Given the description of an element on the screen output the (x, y) to click on. 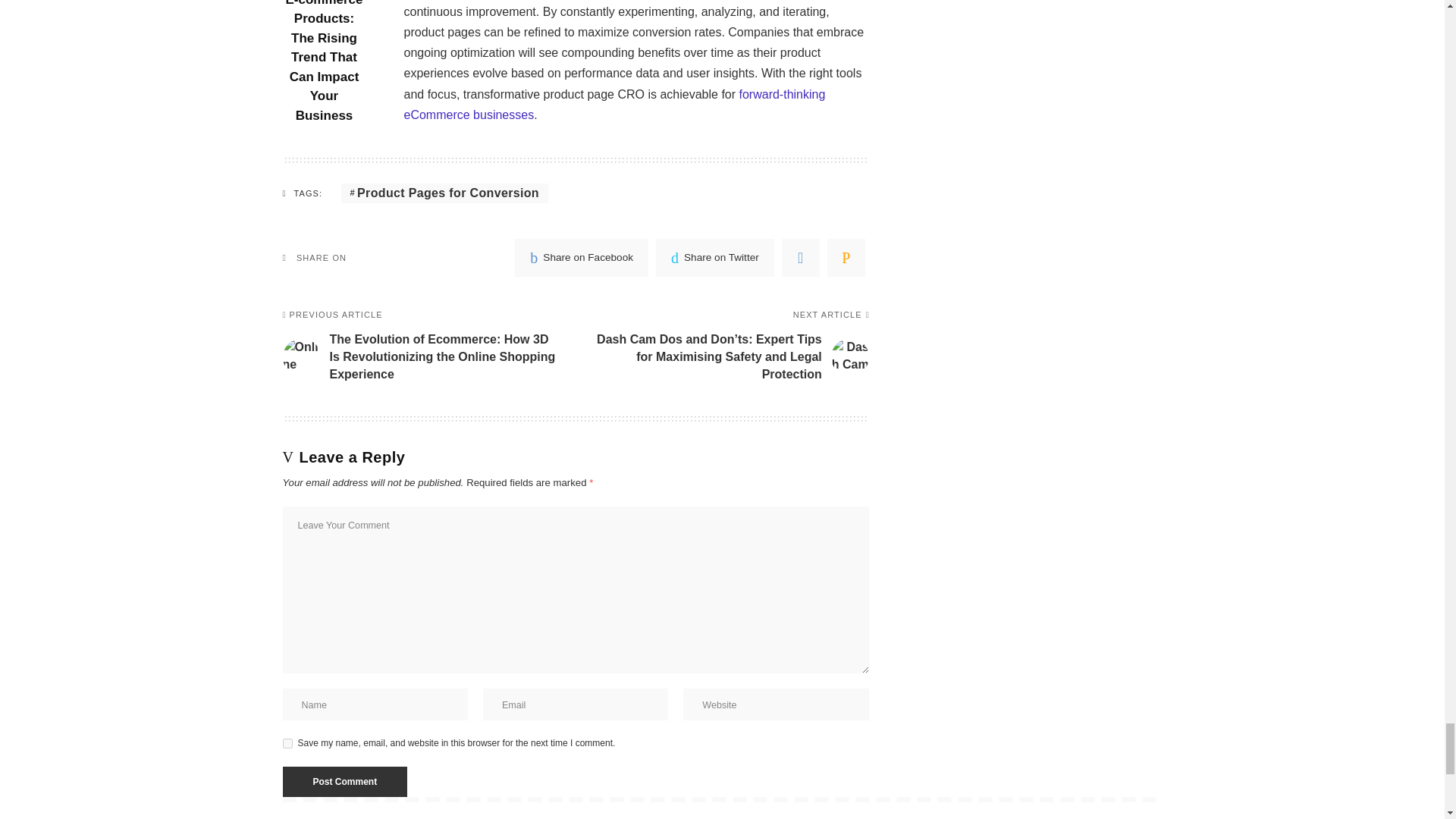
yes (287, 743)
Post Comment (344, 781)
